Given the description of an element on the screen output the (x, y) to click on. 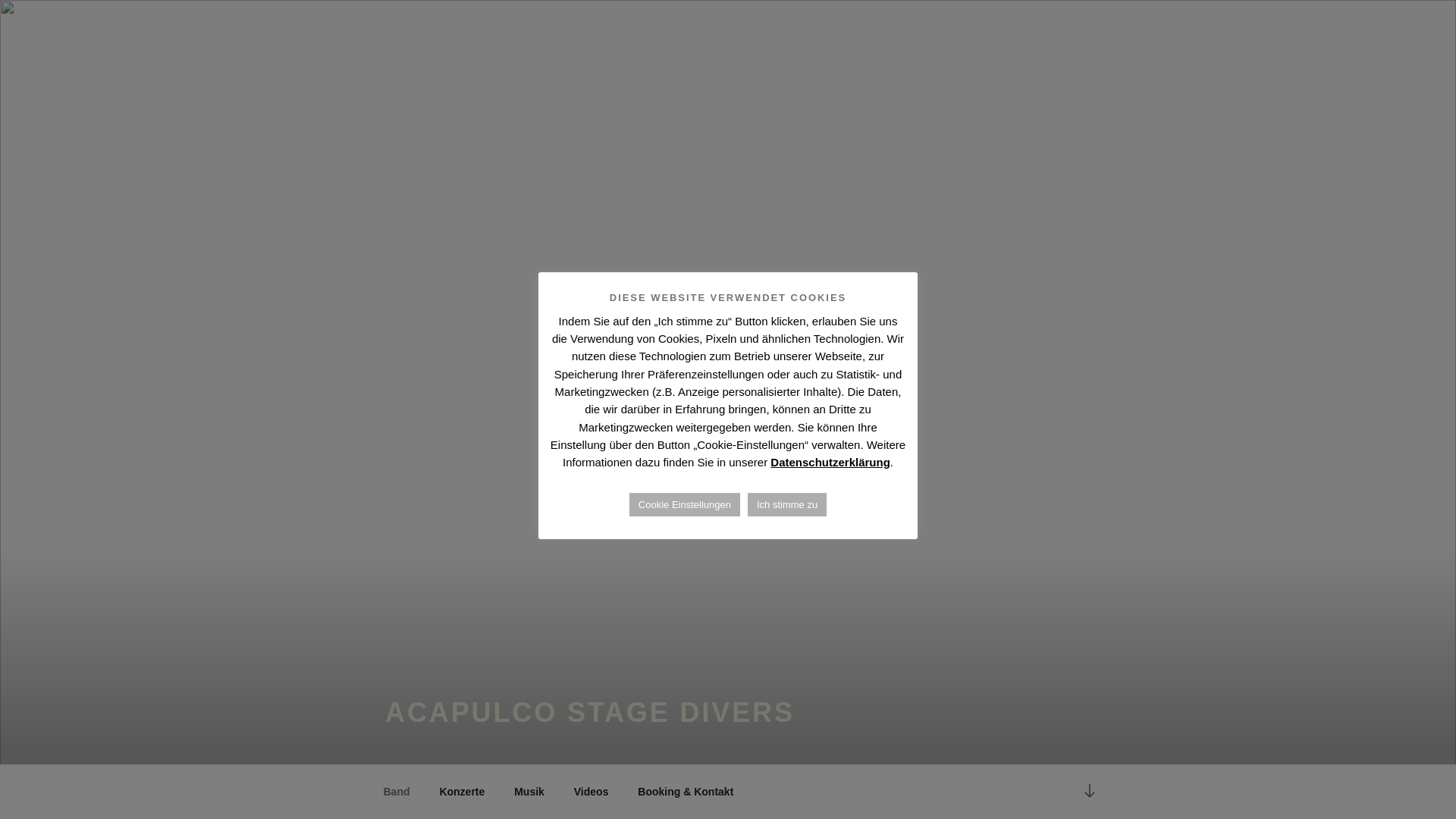
Band Element type: text (396, 791)
Videos Element type: text (590, 791)
Booking & Kontakt Element type: text (685, 791)
Ich stimme zu Element type: text (786, 504)
Zum Inhalt nach unten scrollen Element type: text (1089, 790)
ACAPULCO STAGE DIVERS Element type: text (589, 712)
Musik Element type: text (529, 791)
Cookie Einstellungen Element type: text (684, 504)
Konzerte Element type: text (462, 791)
